Given the description of an element on the screen output the (x, y) to click on. 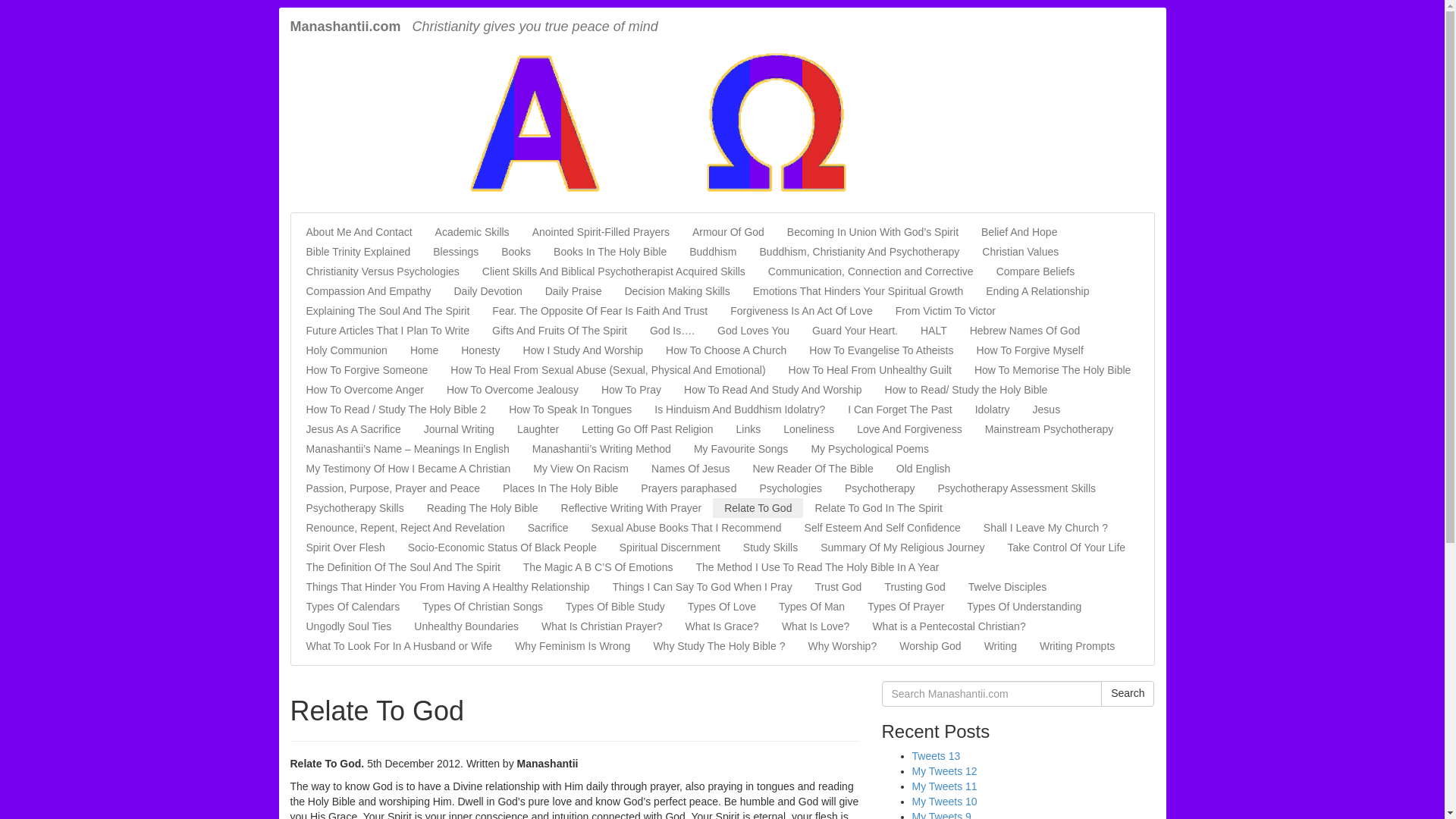
Explaining The Soul And The Spirit (387, 311)
From Victim To Victor (945, 311)
Bible Trinity Explained (358, 251)
Blessings (455, 251)
Daily Praise (573, 291)
Buddhism, Christianity And Psychotherapy (859, 251)
Emotions That Hinders Your Spiritual Growth (858, 291)
Communication, Connection and Corrective (871, 271)
Decision Making Skills (676, 291)
HALT (933, 330)
Daily Devotion (487, 291)
Future Articles That I Plan To Write (387, 330)
Christian Values (1020, 251)
Compassion And Empathy (368, 291)
God Loves You (753, 330)
